Given the description of an element on the screen output the (x, y) to click on. 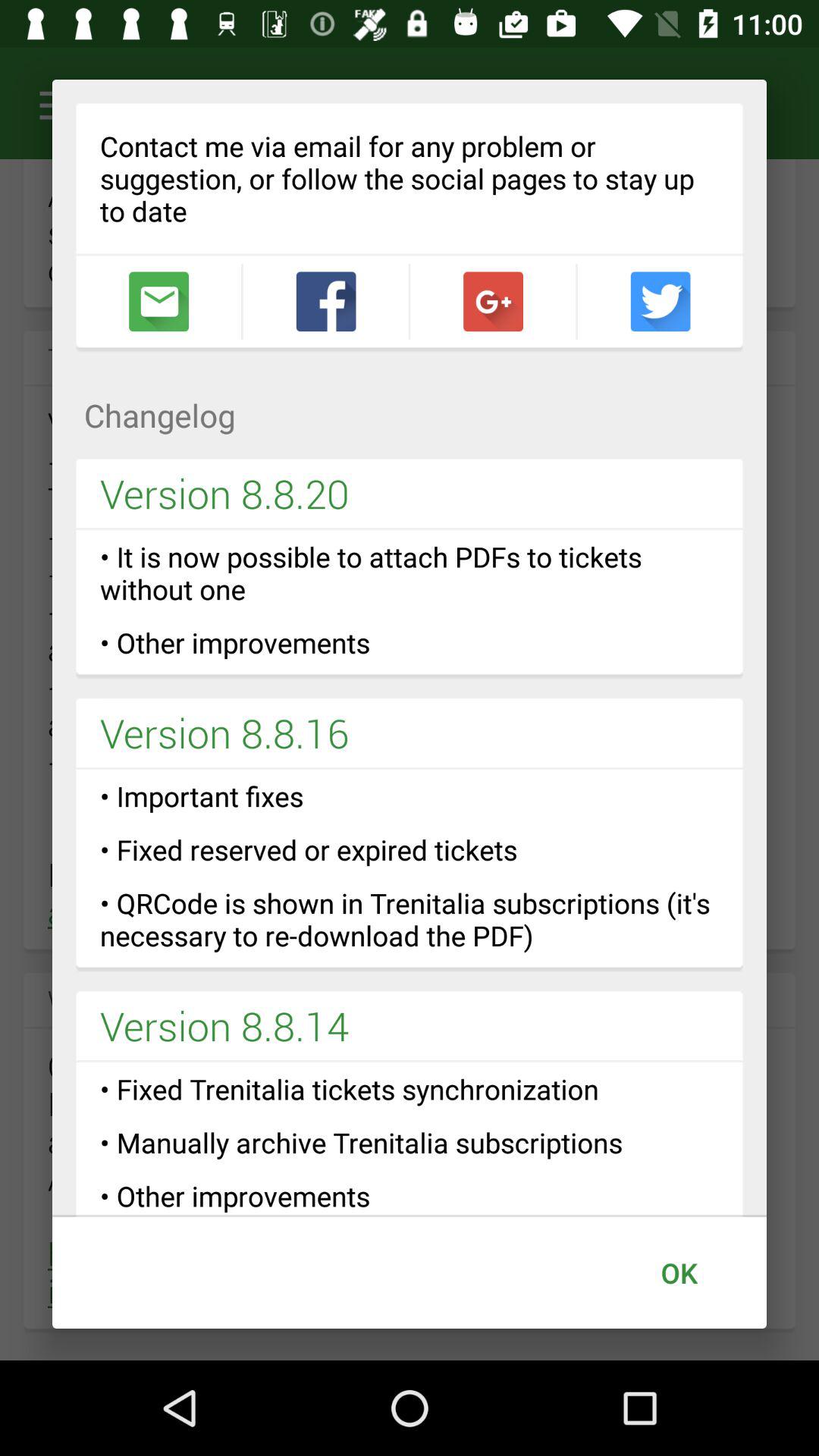
press the item above changelog icon (158, 301)
